Given the description of an element on the screen output the (x, y) to click on. 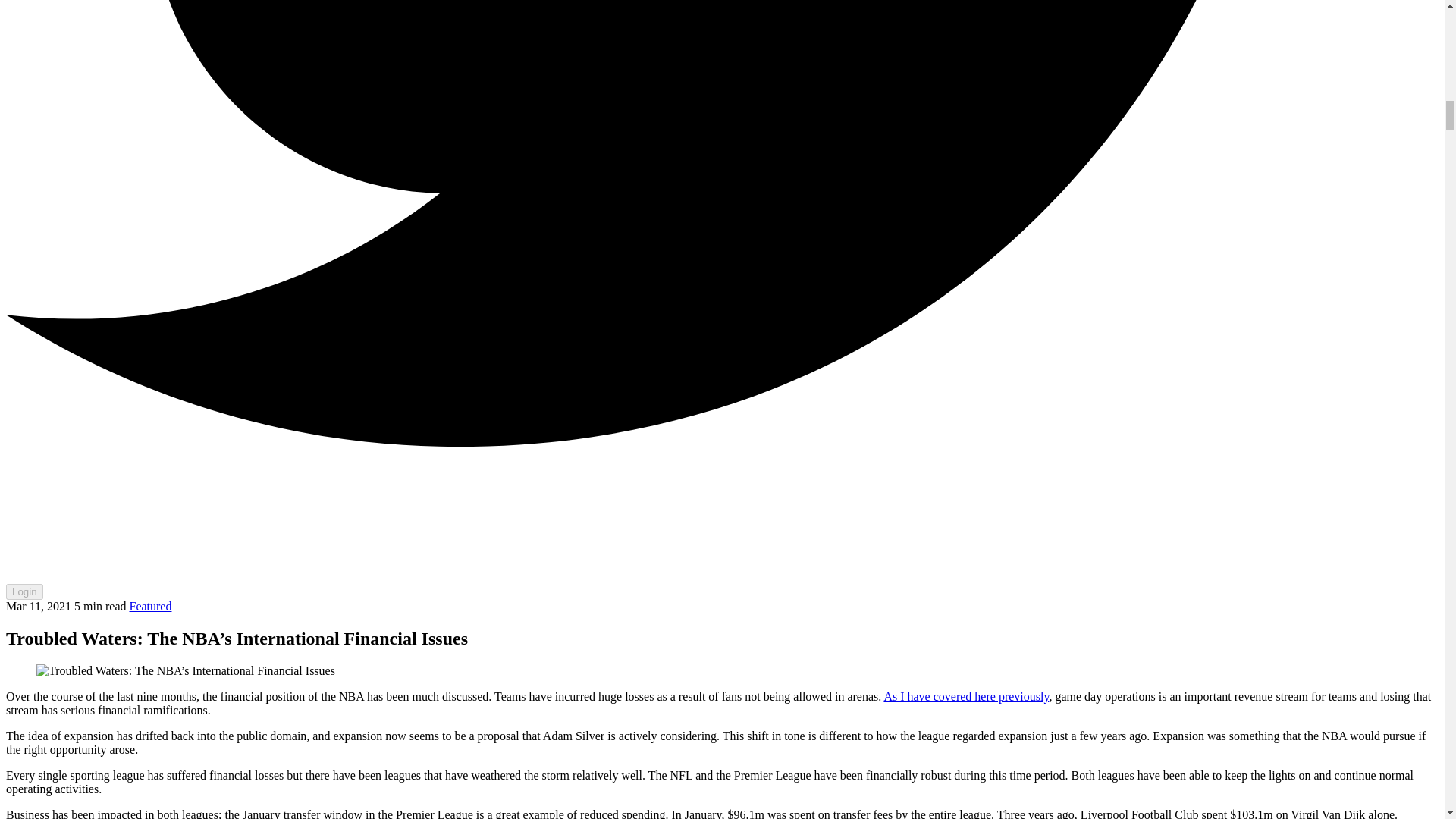
Featured (150, 605)
Login (24, 591)
As I have covered here previously (965, 696)
